Given the description of an element on the screen output the (x, y) to click on. 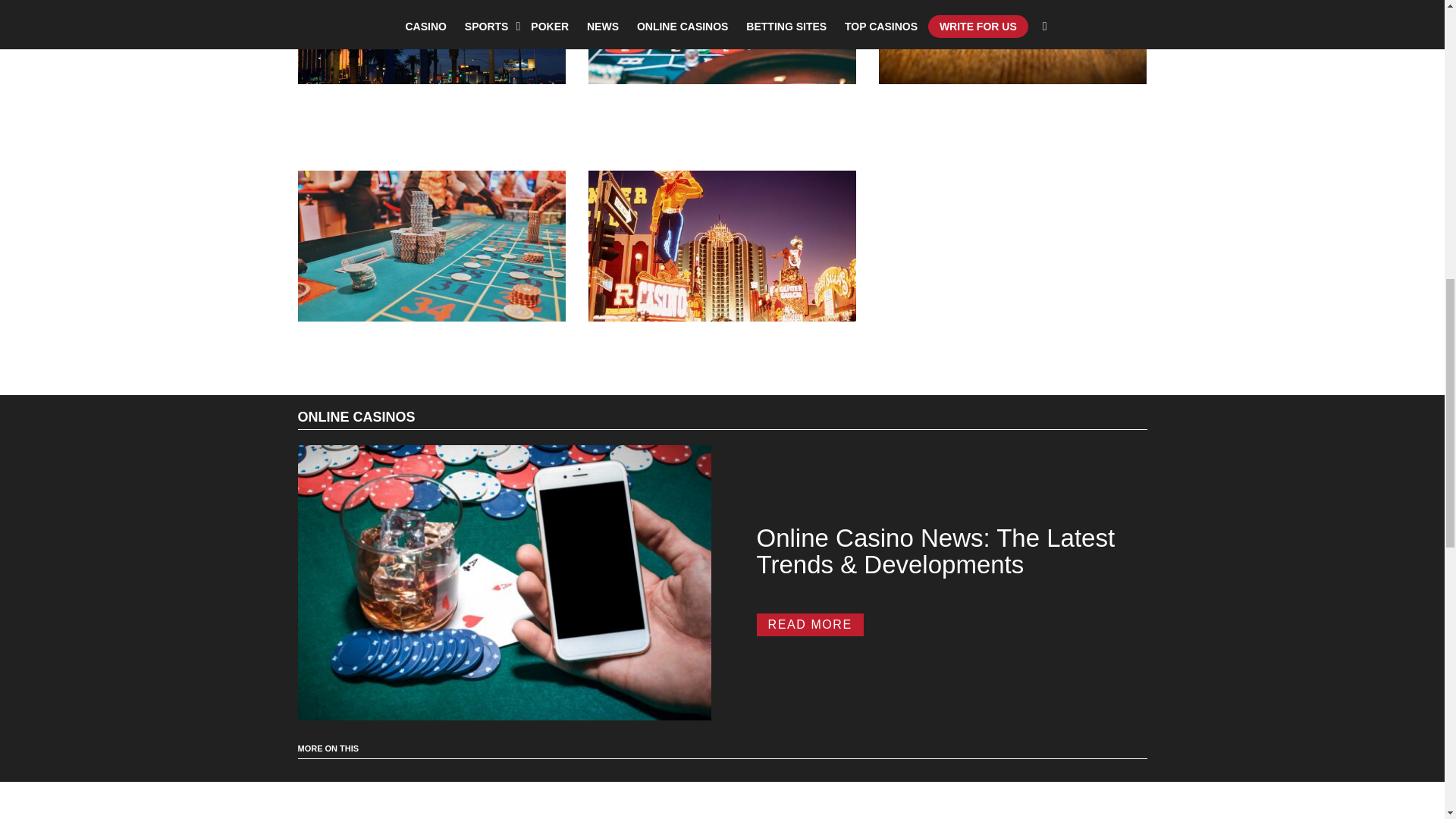
Top 10 Casinos In New Jersey (722, 42)
Top 10 Gambling Cities In The World With Biggest Casinos (430, 42)
Top 10 Casinos In Las Vegas (722, 245)
Top 10 Casinos In Los Angeles (430, 245)
Top 10 Casinos In New York (1013, 42)
